Given the description of an element on the screen output the (x, y) to click on. 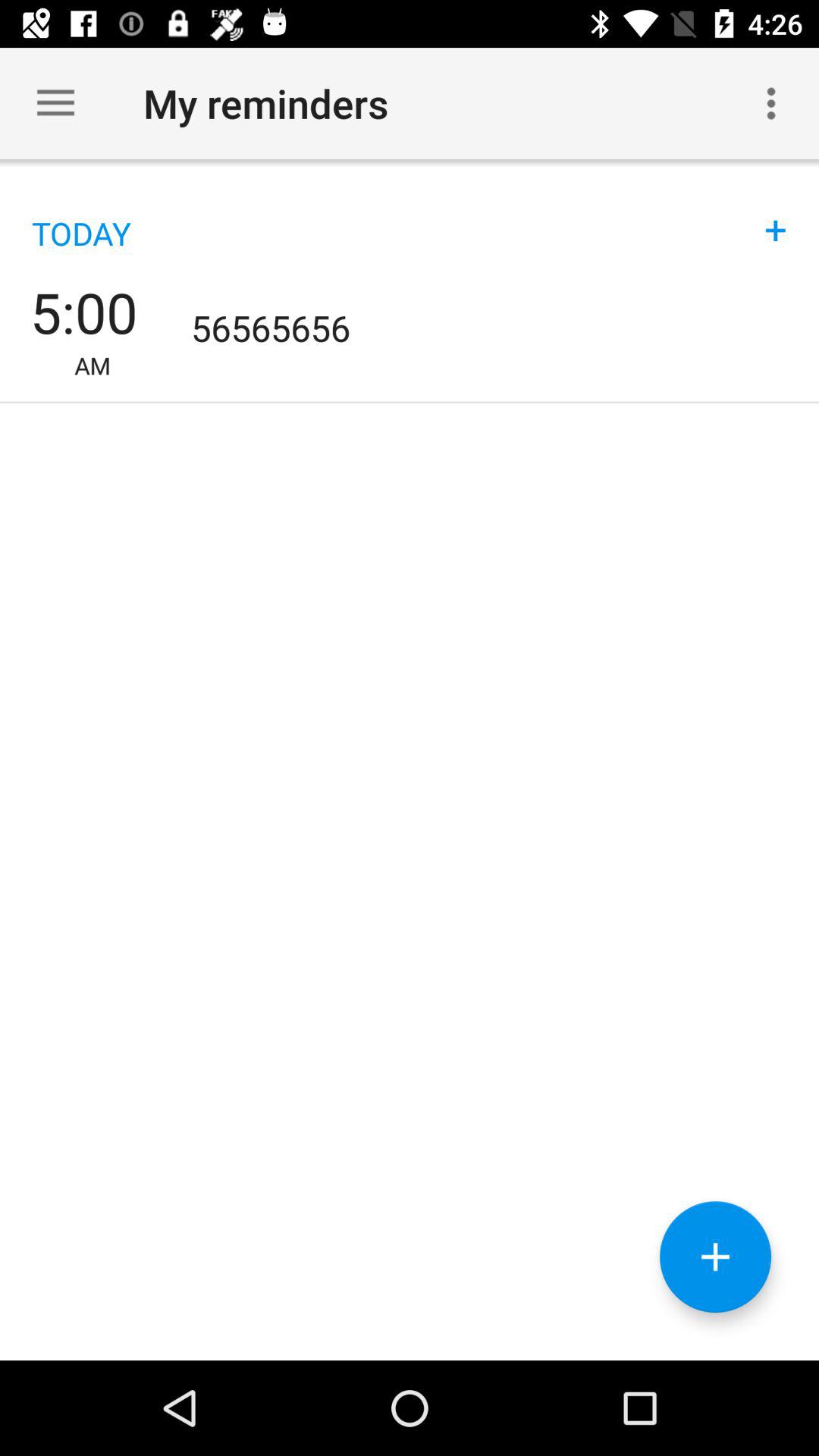
turn off icon below 56565656 item (715, 1256)
